Given the description of an element on the screen output the (x, y) to click on. 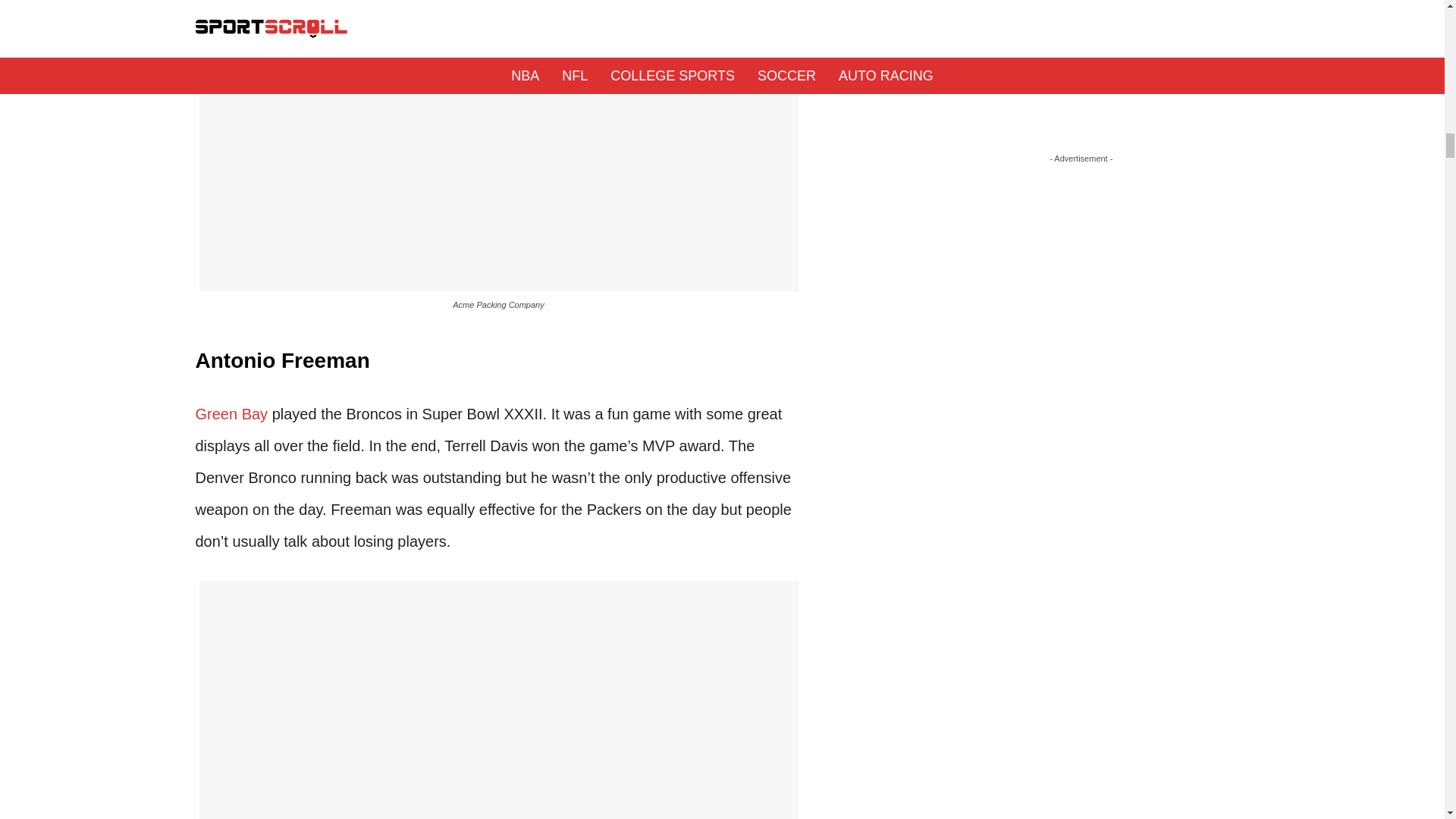
Green Bay (231, 413)
